Given the description of an element on the screen output the (x, y) to click on. 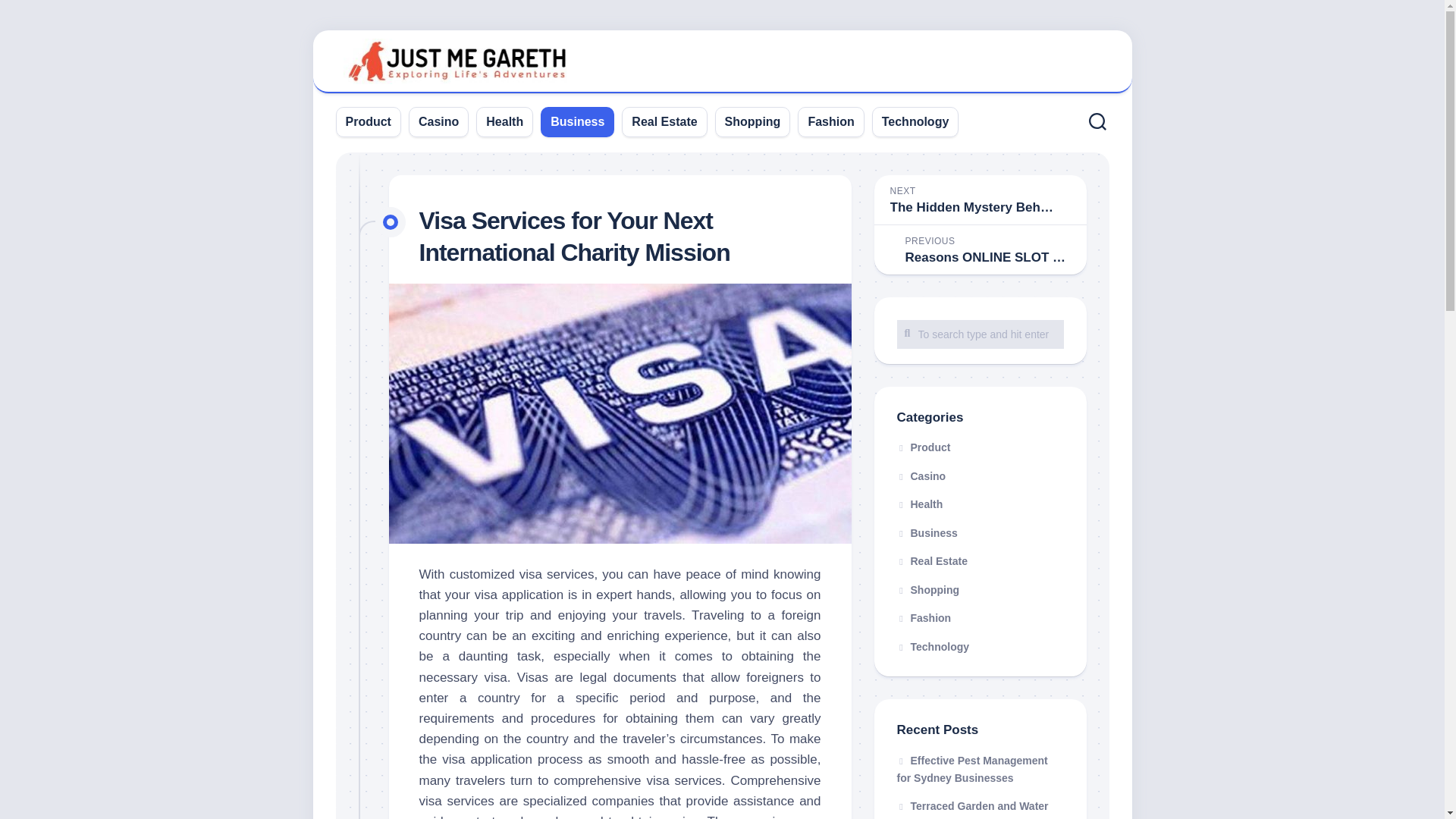
Real Estate (664, 121)
Business (979, 533)
Casino (979, 476)
Product (368, 121)
Shopping (979, 590)
Business (577, 121)
Effective Pest Management for Sydney Businesses (971, 769)
Real Estate (979, 561)
Fashion (979, 618)
To search type and hit enter (979, 199)
Product (979, 334)
Shopping (979, 448)
Casino (752, 121)
